Given the description of an element on the screen output the (x, y) to click on. 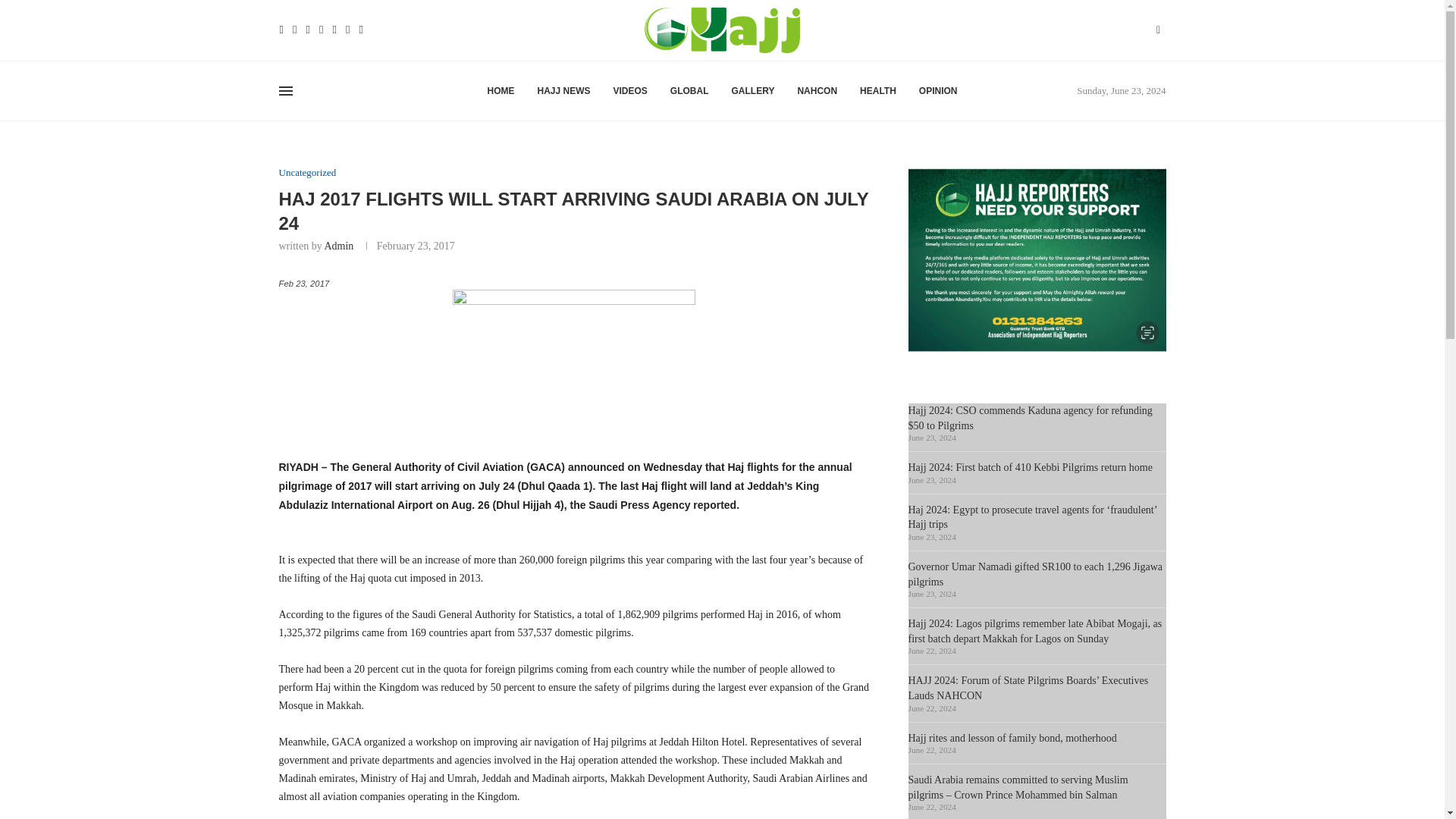
GALLERY (753, 90)
VIDEOS (629, 90)
NAHCON (816, 90)
HEALTH (878, 90)
GLOBAL (689, 90)
OPINION (938, 90)
HAJJ NEWS (563, 90)
HOME (499, 90)
